Given the description of an element on the screen output the (x, y) to click on. 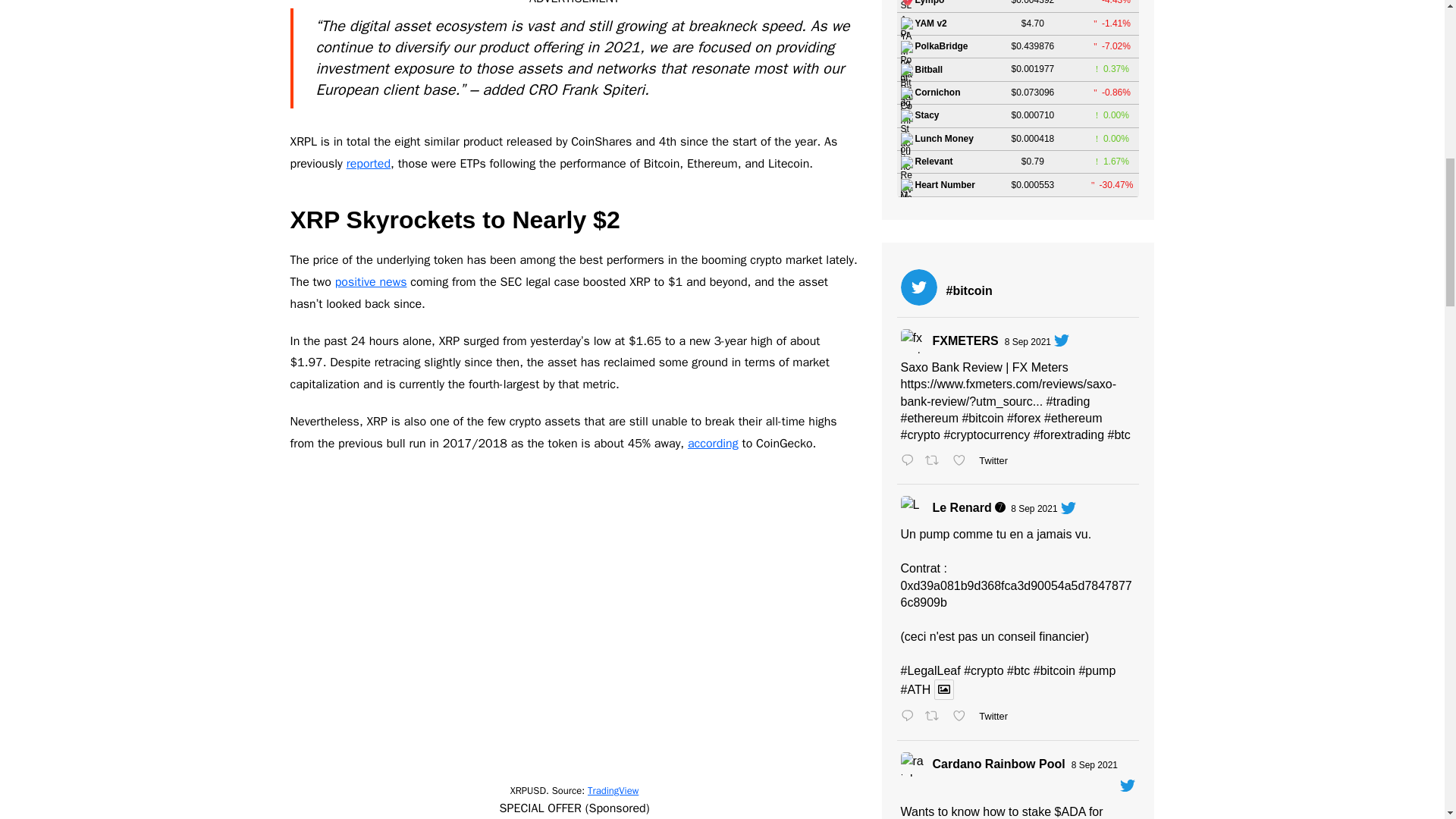
positive news (370, 281)
according (712, 443)
TradingView (613, 789)
reported (368, 163)
